Given the description of an element on the screen output the (x, y) to click on. 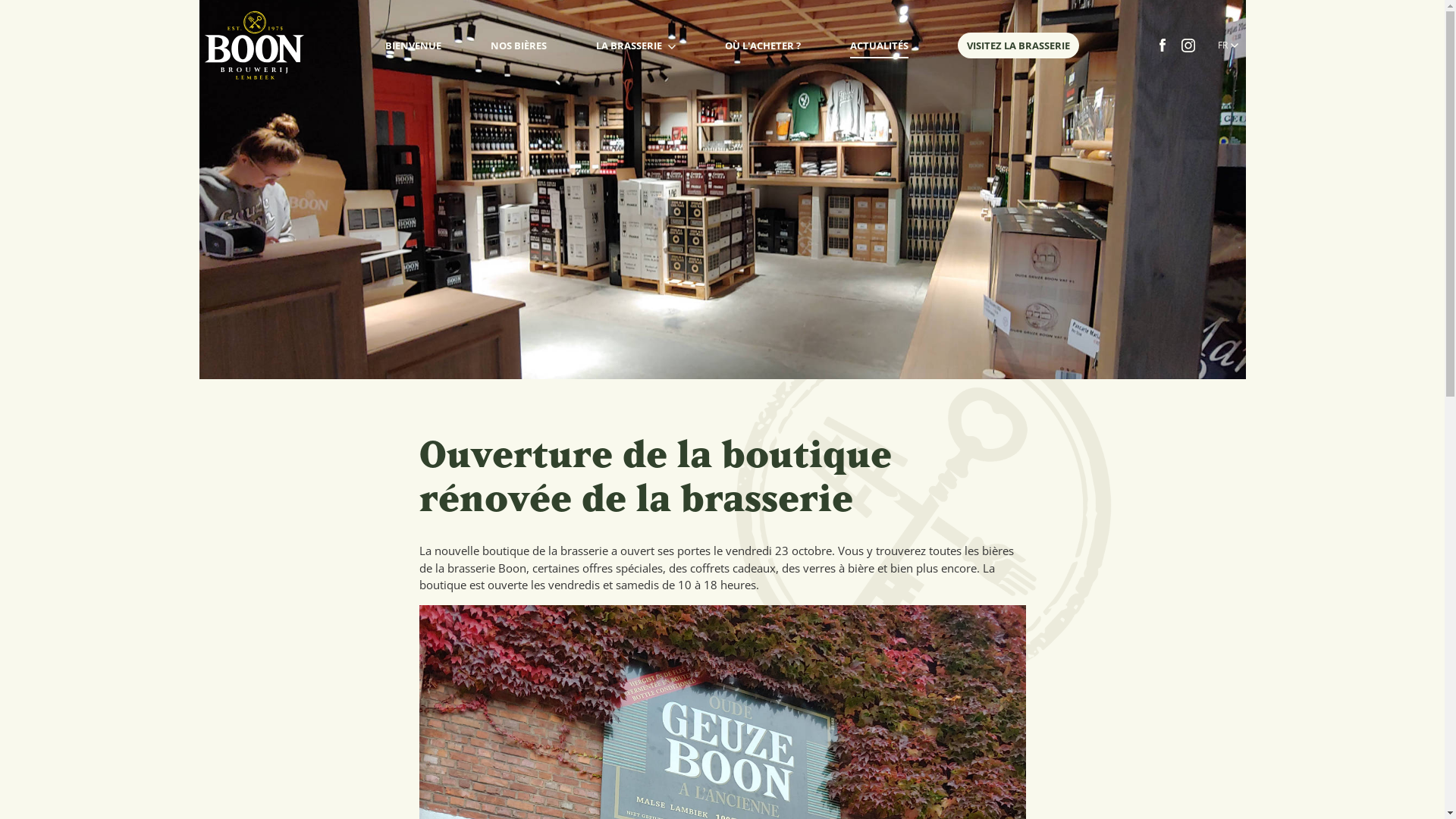
LA BRASSERIE Element type: text (635, 45)
VISITEZ LA BRASSERIE Element type: text (1018, 45)
FR Element type: text (1227, 45)
BIENVENUE Element type: text (413, 45)
